Given the description of an element on the screen output the (x, y) to click on. 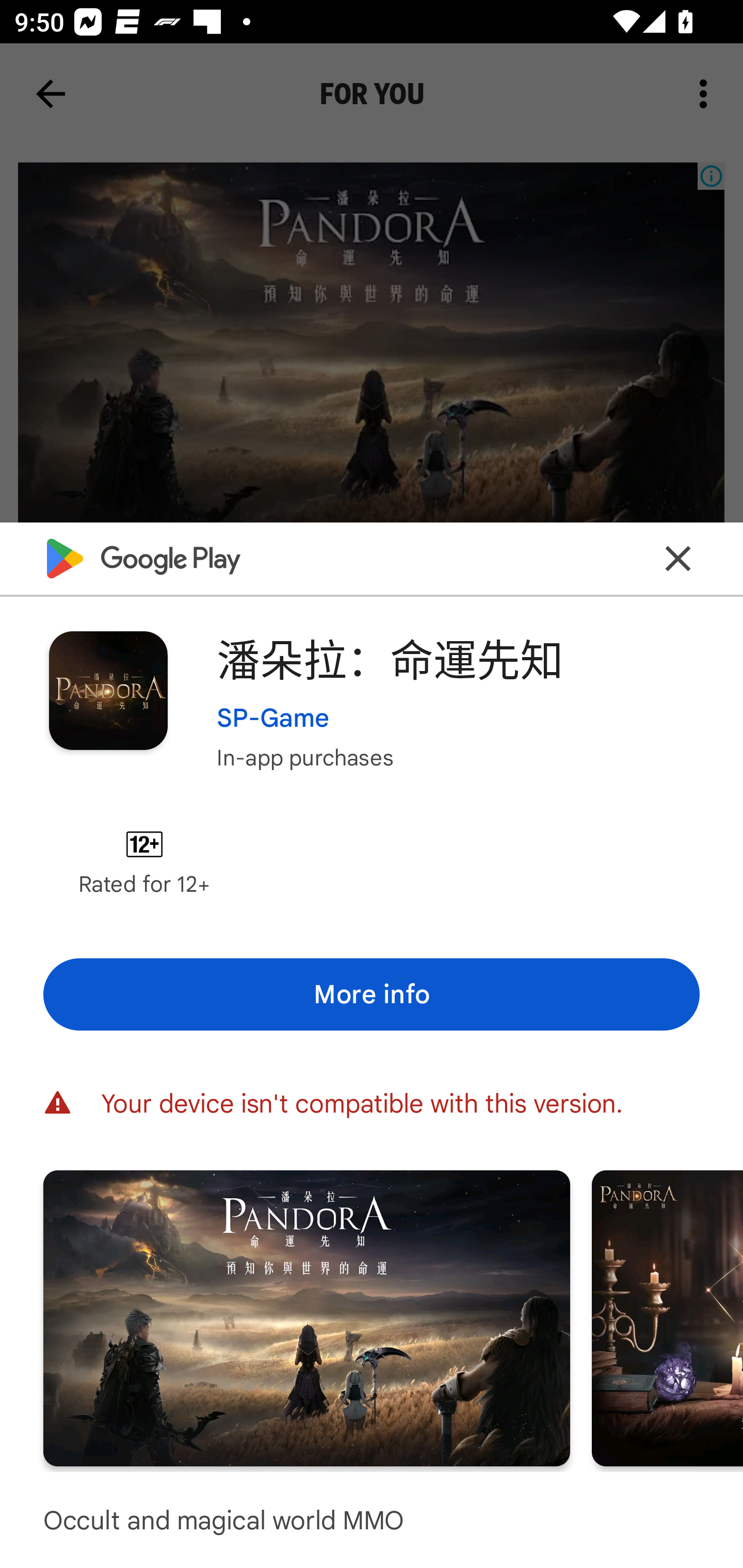
Close (677, 558)
Image of app or game icon for 潘朵拉：命運先知 (108, 690)
SP-Game (272, 716)
More info (371, 994)
Screenshot "1" of "6" (306, 1317)
